Given the description of an element on the screen output the (x, y) to click on. 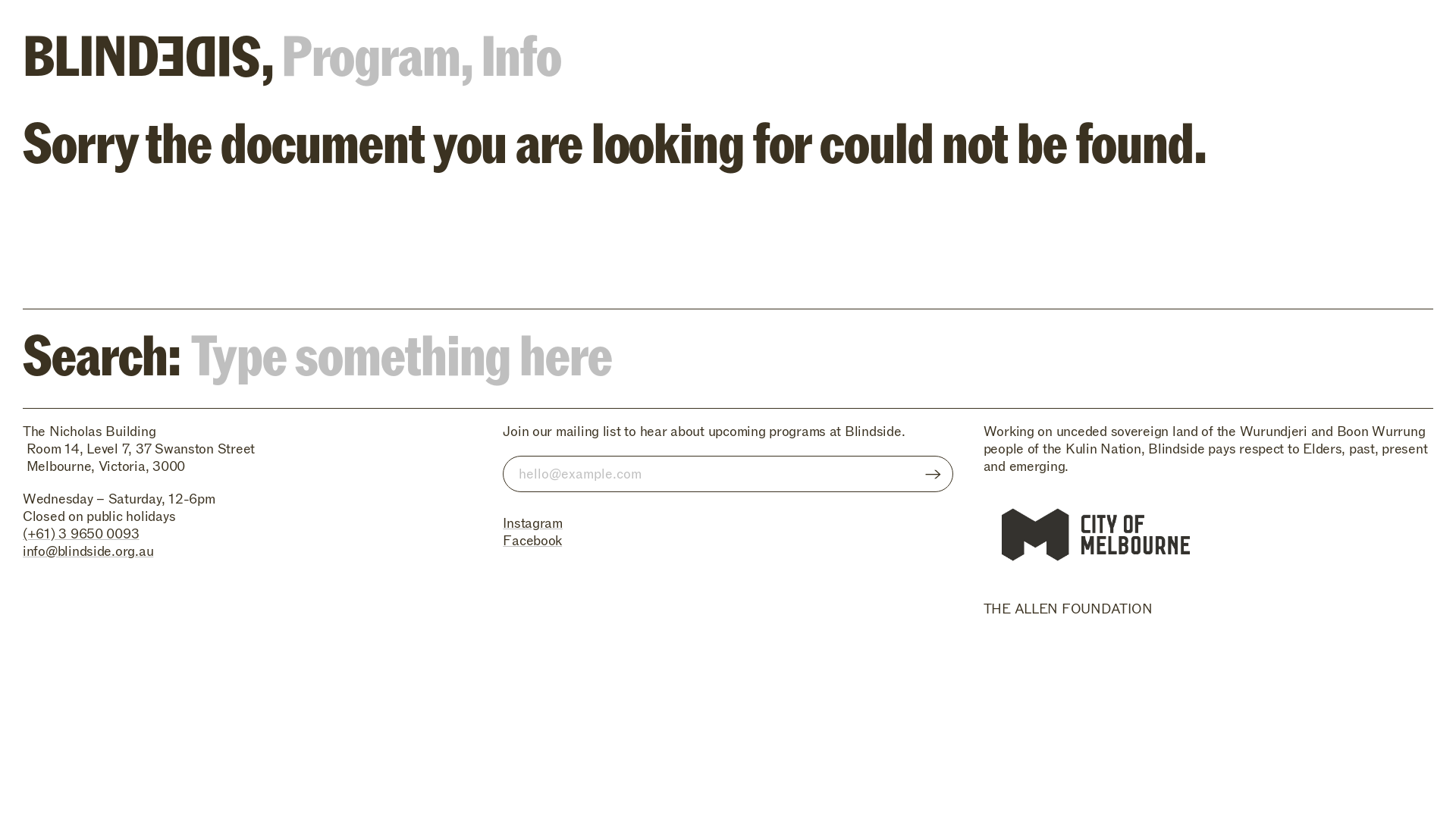
Program, Element type: text (376, 50)
Facebook Element type: text (531, 540)
Instagram Element type: text (532, 523)
BLINDSIDE, Element type: text (147, 50)
(+61) 3 9650 0093 Element type: text (80, 533)
Info Element type: text (520, 50)
info@blindside.org.au Element type: text (87, 551)
